Given the description of an element on the screen output the (x, y) to click on. 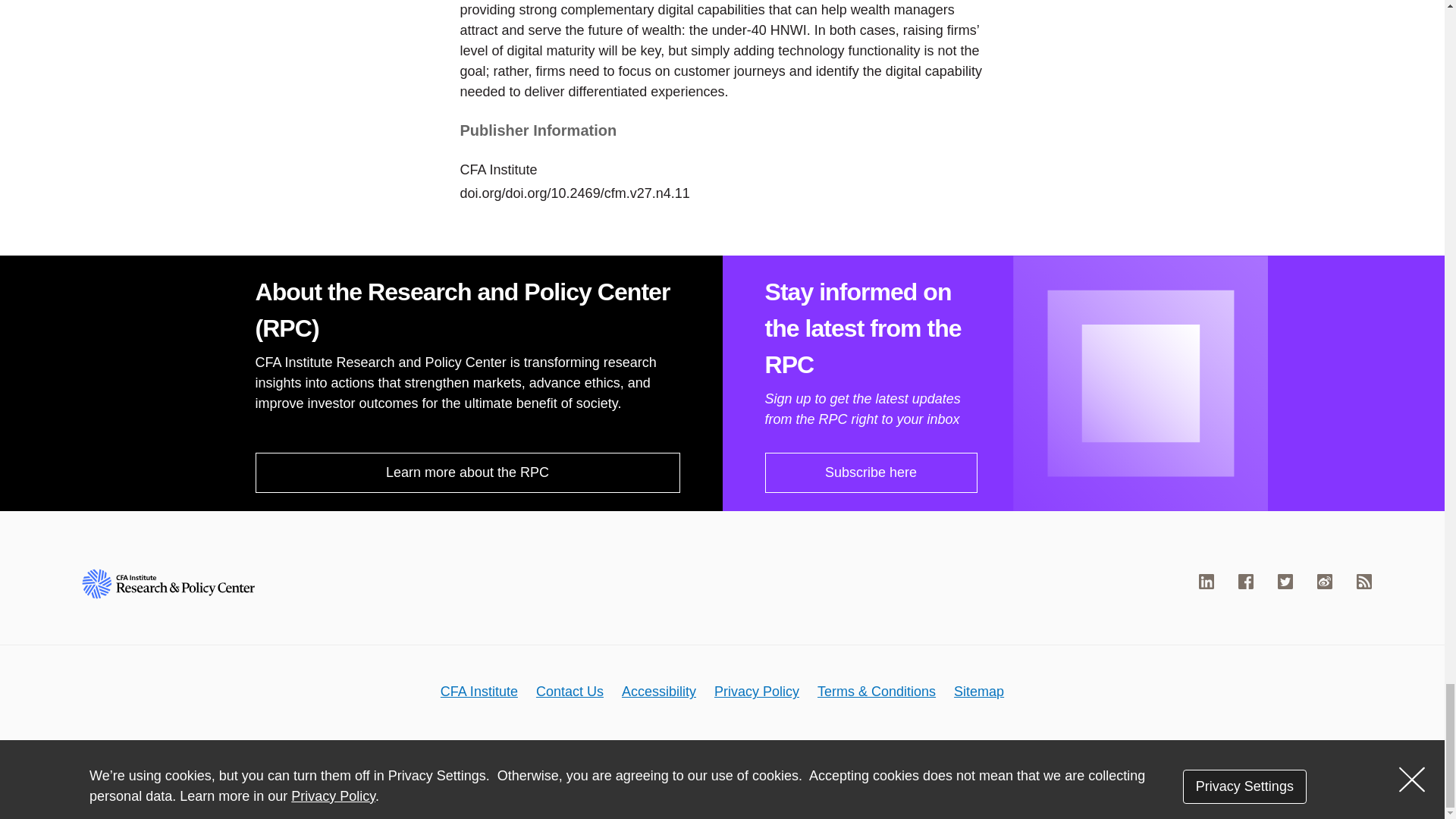
Twitter Page (1285, 581)
Terms and Conditions (876, 691)
Linkedin Page (1206, 581)
CFA Institute Research and Policy Center RSS (1363, 581)
Privacy Policy (756, 691)
Weibo Page (1324, 581)
Facebook Page (1246, 581)
Sitemap (978, 691)
